Given the description of an element on the screen output the (x, y) to click on. 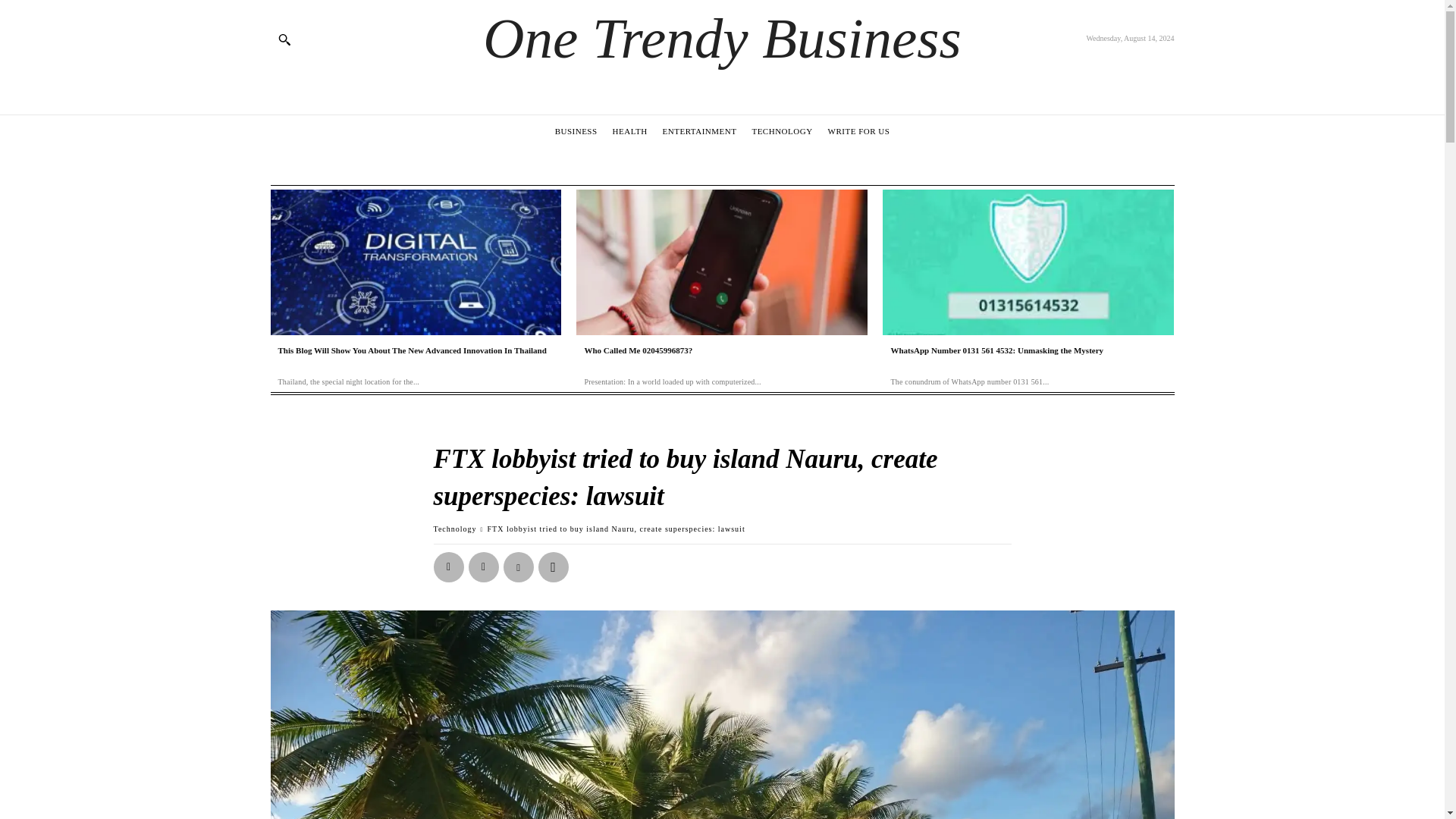
Twitter (483, 567)
WRITE FOR US (858, 131)
BUSINESS (576, 131)
Who Called Me 02045996873? (721, 261)
Who Called Me 02045996873? (638, 349)
WhatsApp Number 0131 561 4532: Unmasking the Mystery (1027, 261)
ENTERTAINMENT (700, 131)
Pinterest (518, 567)
WhatsApp (553, 567)
